Given the description of an element on the screen output the (x, y) to click on. 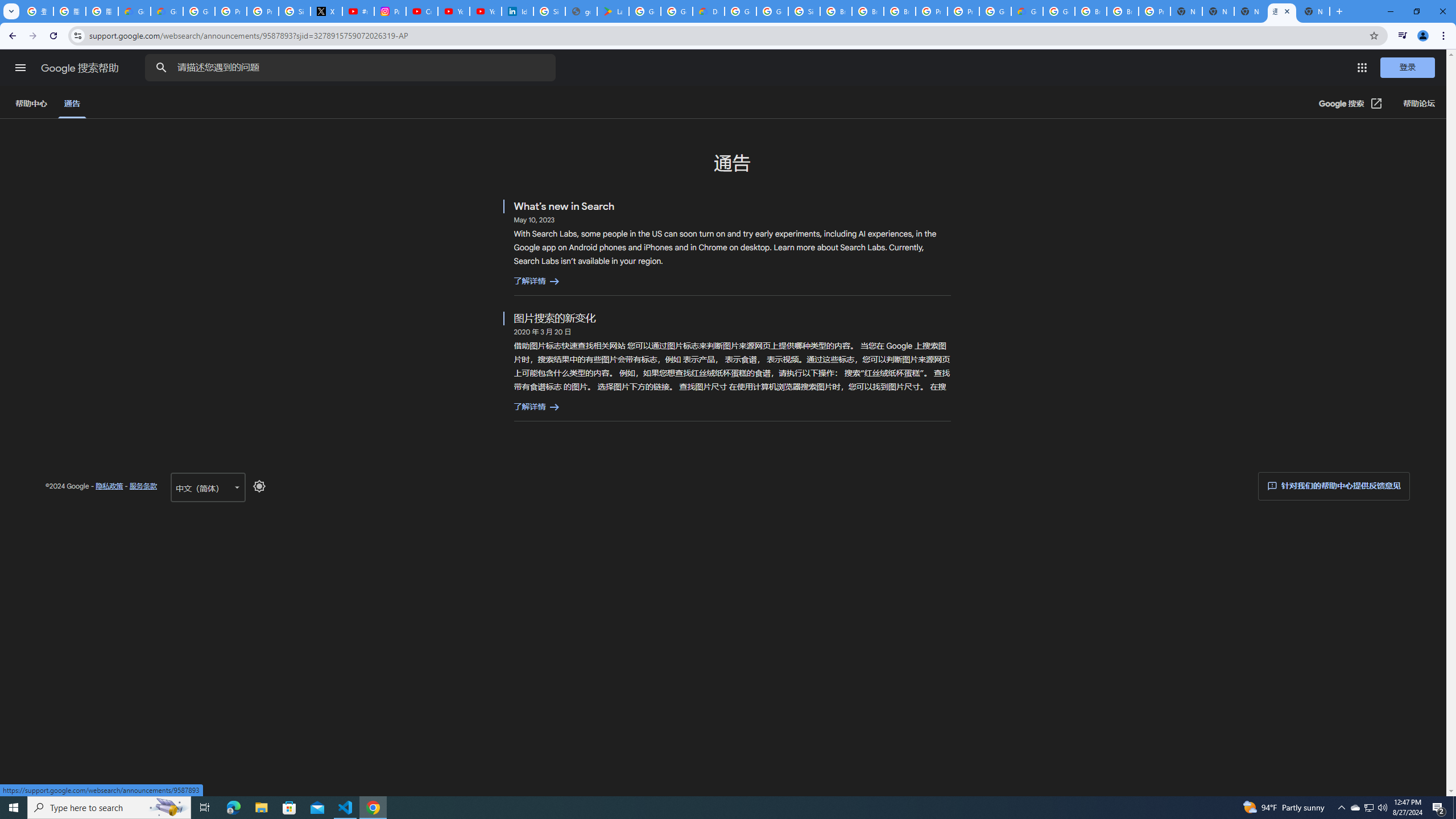
Google Cloud Platform (1059, 11)
Sign in - Google Accounts (294, 11)
Browse Chrome as a guest - Computer - Google Chrome Help (899, 11)
google_privacy_policy_en.pdf (581, 11)
Identity verification via Persona | LinkedIn Help (517, 11)
